Given the description of an element on the screen output the (x, y) to click on. 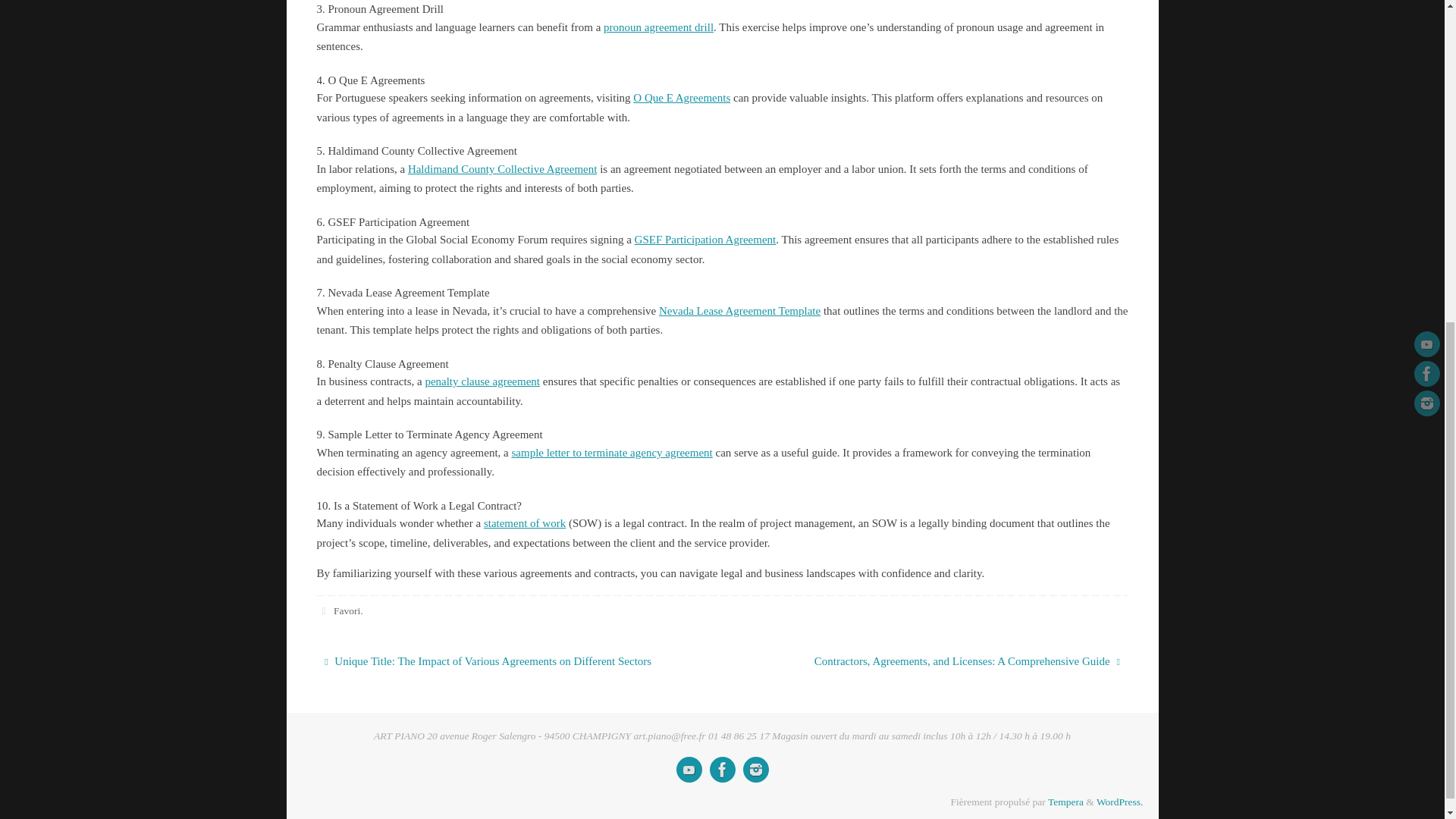
Favori (346, 610)
O Que E Agreements (681, 97)
Contractors, Agreements, and Licenses: A Comprehensive Guide (937, 661)
Nevada Lease Agreement Template (740, 310)
pronoun agreement drill (658, 27)
GSEF Participation Agreement (705, 239)
penalty clause agreement (482, 381)
 Ajouter le permalien aux favoris (324, 610)
